Given the description of an element on the screen output the (x, y) to click on. 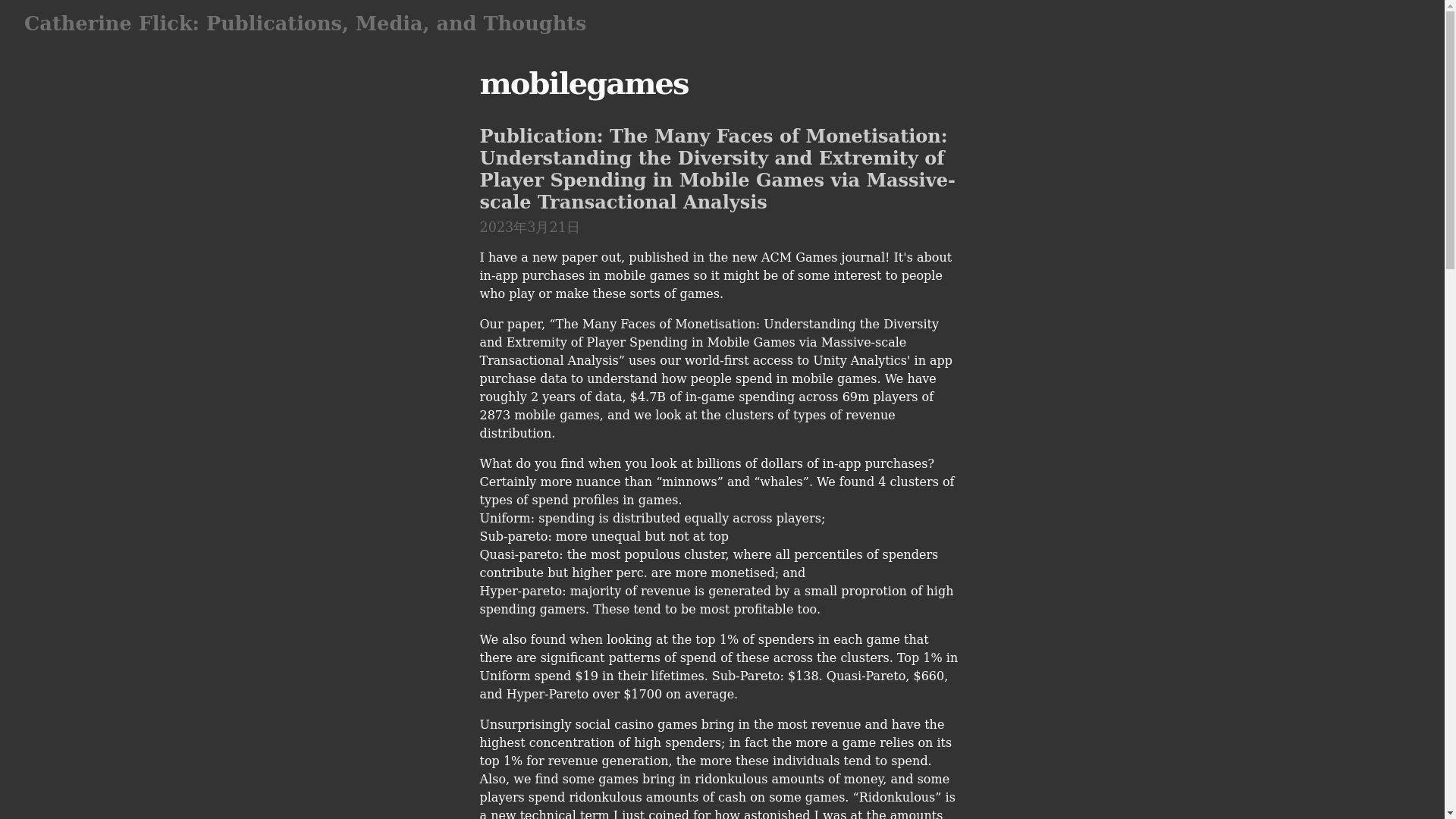
Catherine Flick: Publications, Media, and Thoughts (305, 23)
